Given the description of an element on the screen output the (x, y) to click on. 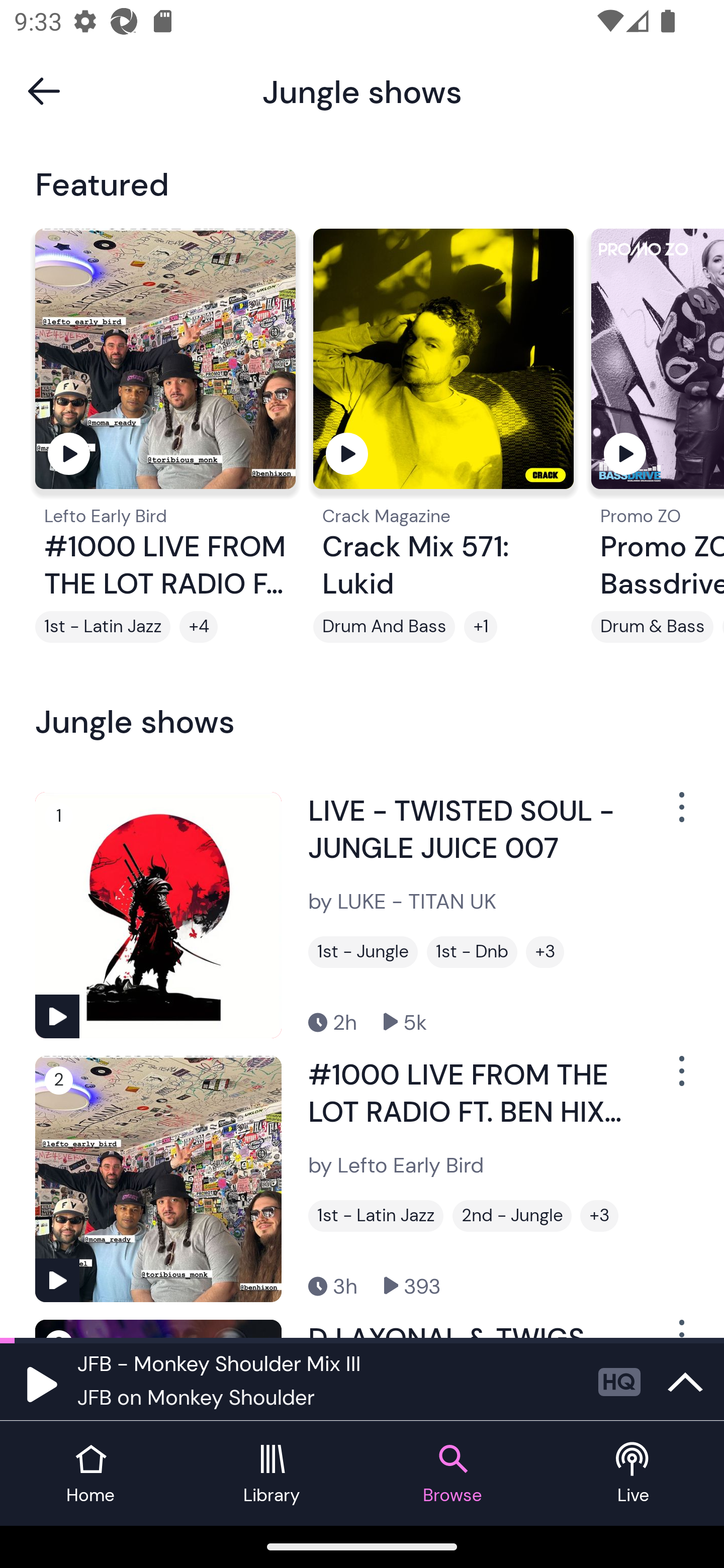
1st - Latin Jazz (102, 626)
Drum And Bass (383, 626)
Drum & Bass (652, 626)
Show Options Menu Button (679, 814)
1st - Jungle (362, 951)
1st - Dnb (472, 951)
Show Options Menu Button (679, 1078)
1st - Latin Jazz (375, 1215)
2nd - Jungle (511, 1215)
Home tab Home (90, 1473)
Library tab Library (271, 1473)
Browse tab Browse (452, 1473)
Live tab Live (633, 1473)
